Given the description of an element on the screen output the (x, y) to click on. 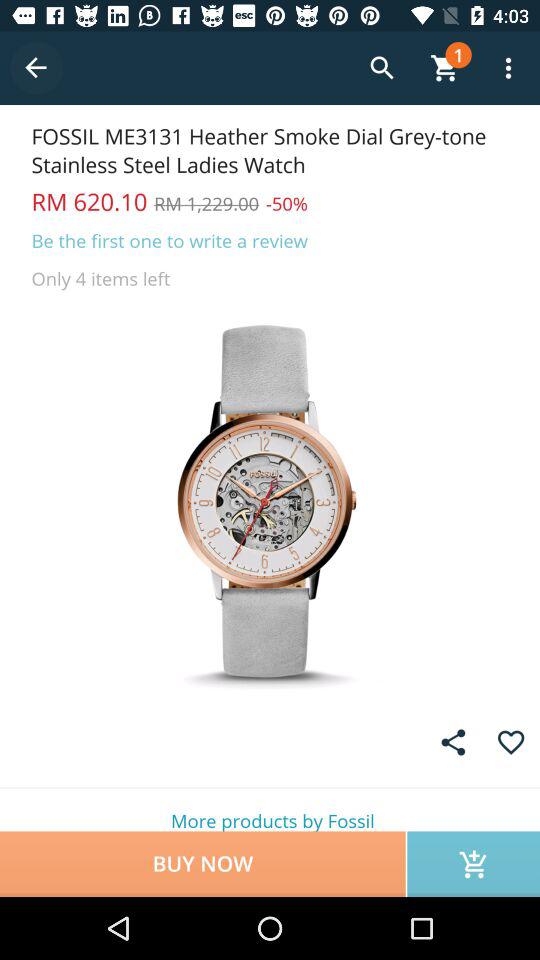
favorite page (510, 742)
